Given the description of an element on the screen output the (x, y) to click on. 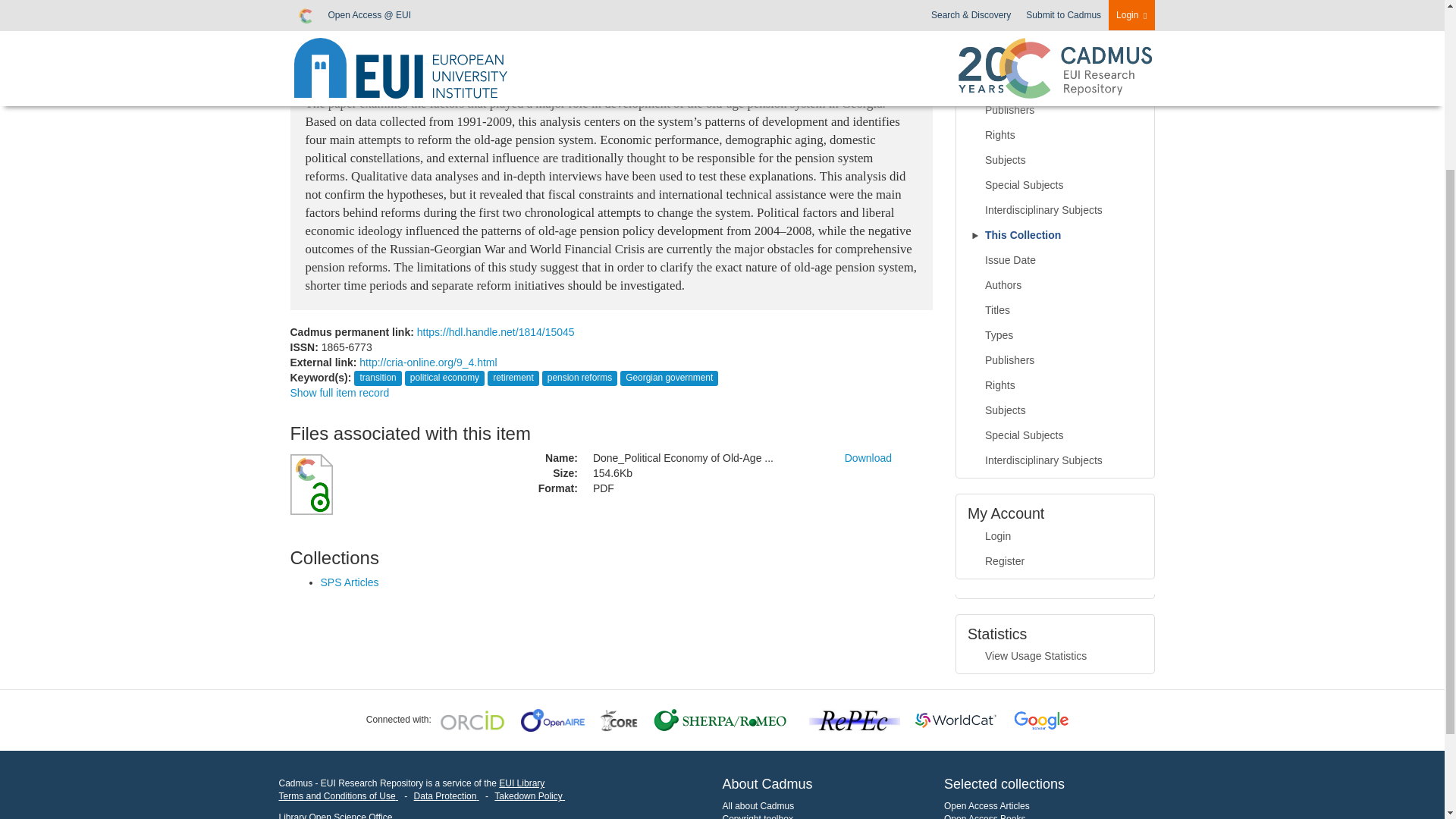
Authors (1055, 35)
Go to Disclaimer (338, 796)
Issue Date (1055, 12)
political economy (444, 378)
GUGUSHVILI, Alexi (346, 21)
Rights (1055, 135)
SPS Articles (349, 582)
Types (1055, 85)
Show full item record (338, 392)
retirement (513, 378)
